Given the description of an element on the screen output the (x, y) to click on. 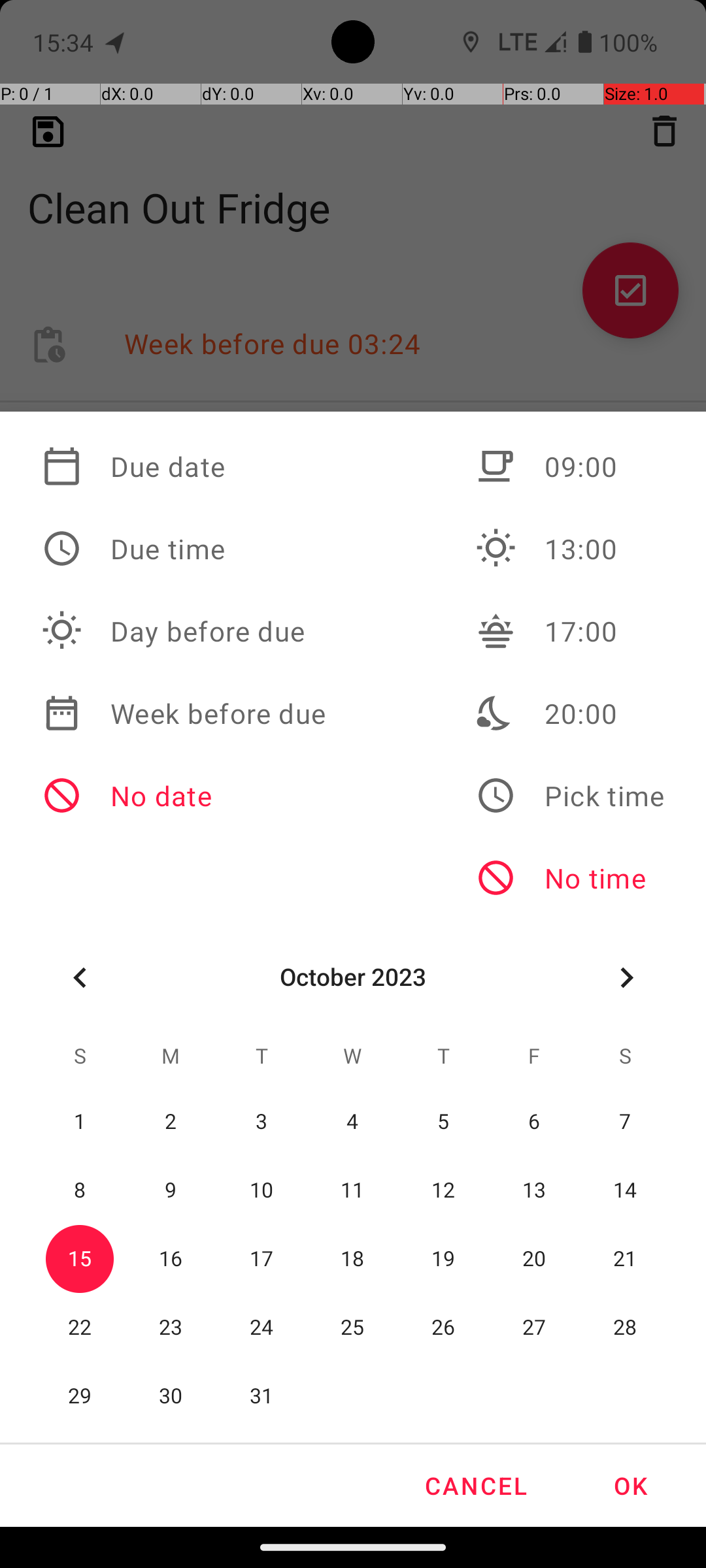
Due date Element type: android.widget.CompoundButton (183, 466)
Due time Element type: android.widget.CompoundButton (183, 548)
Day before due Element type: android.widget.CompoundButton (183, 630)
Week before due Element type: android.widget.CompoundButton (183, 713)
